Given the description of an element on the screen output the (x, y) to click on. 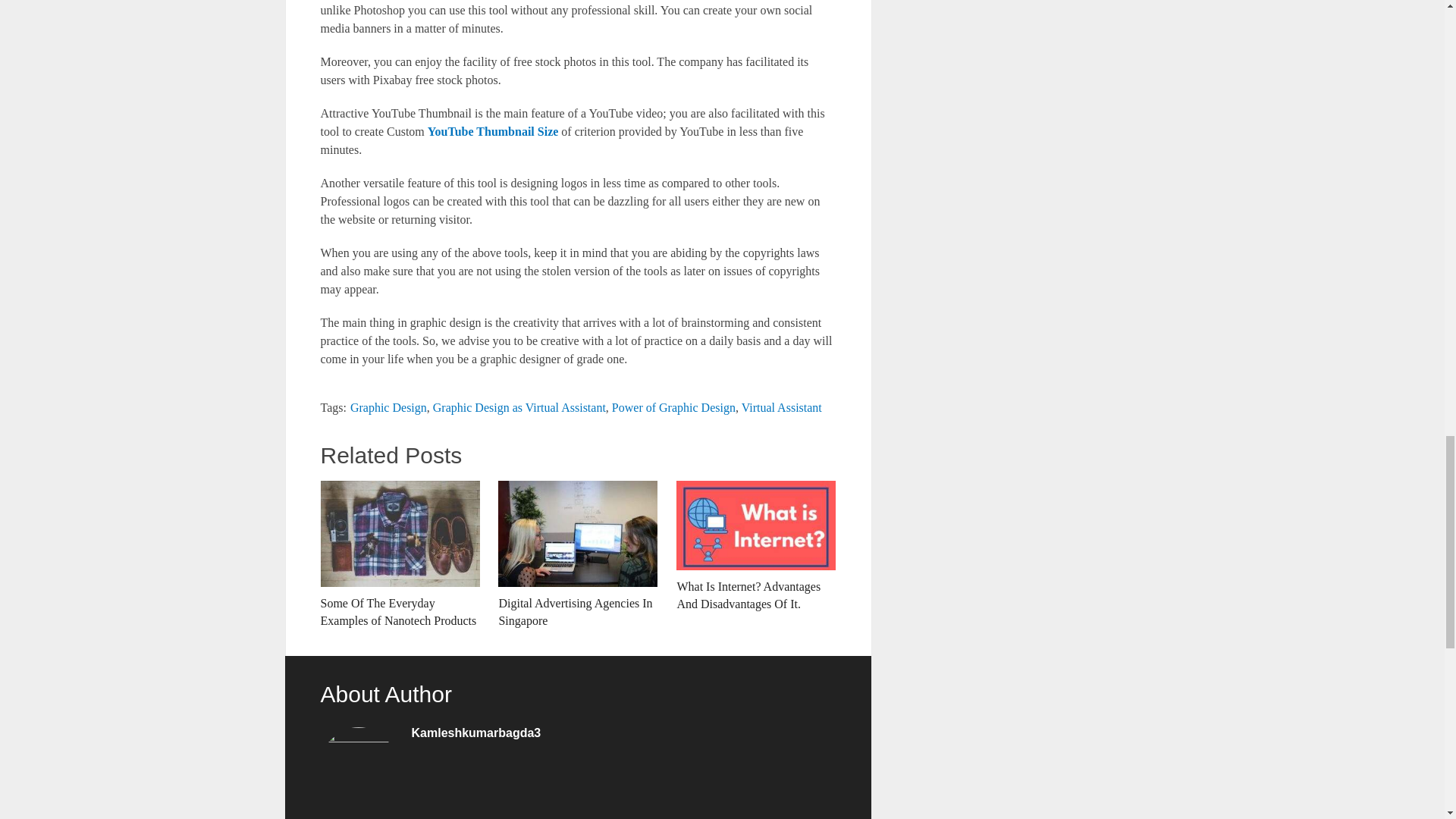
Some Of The Everyday Examples of Nanotech Products (399, 554)
Graphic Design as Virtual Assistant (518, 407)
Virtual Assistant (781, 407)
What Is Internet? Advantages And Disadvantages Of It. (756, 546)
Graphic Design (388, 407)
Digital Advertising Agencies In Singapore (577, 554)
Power of Graphic Design (673, 407)
What Is Internet? Advantages And Disadvantages Of It. (756, 546)
Digital Advertising Agencies In Singapore (577, 554)
Some Of The Everyday Examples of Nanotech Products (399, 554)
